Given the description of an element on the screen output the (x, y) to click on. 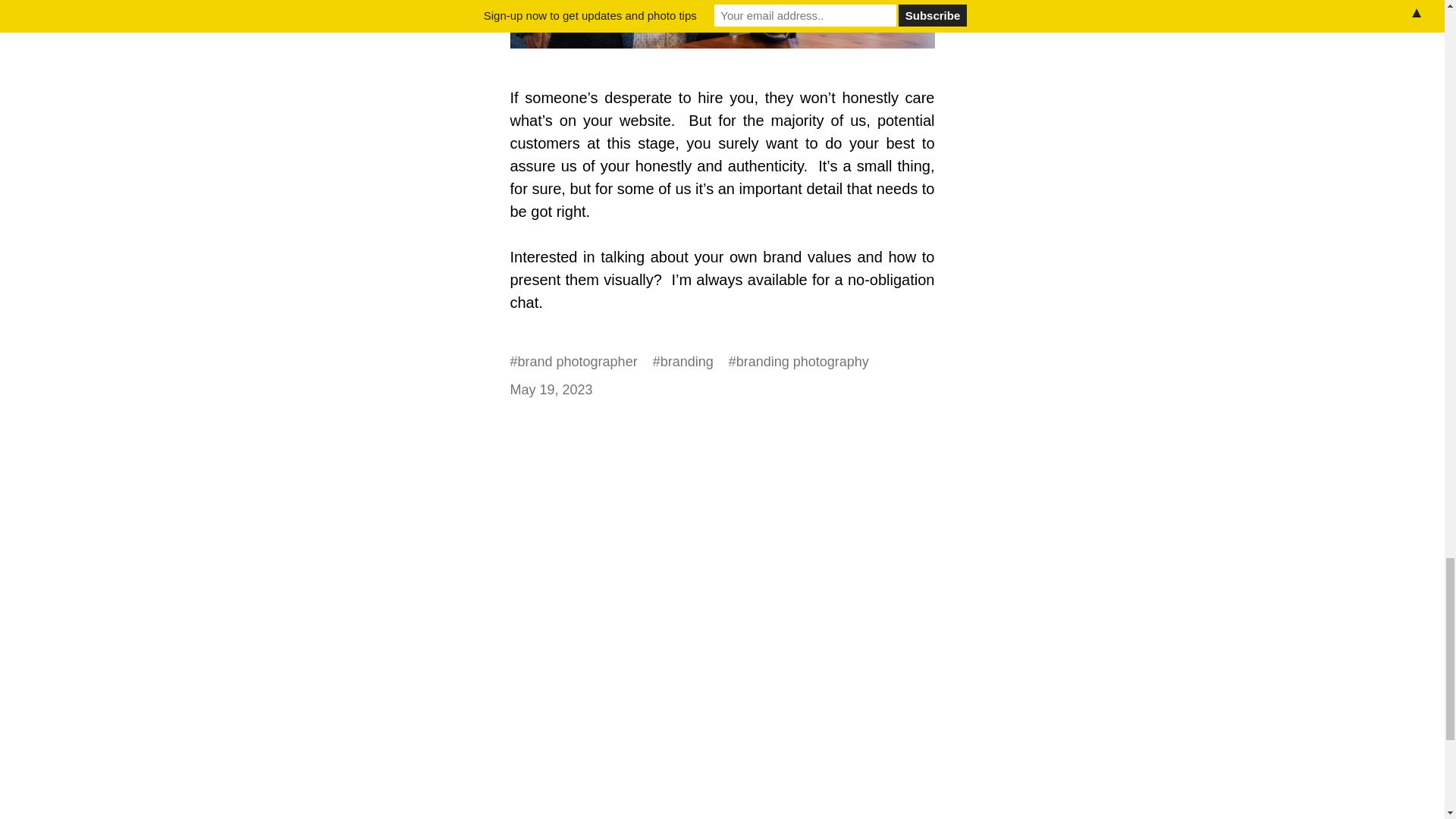
branding photography (802, 361)
brand photographer (577, 361)
May 19, 2023 (550, 390)
branding (687, 361)
